Given the description of an element on the screen output the (x, y) to click on. 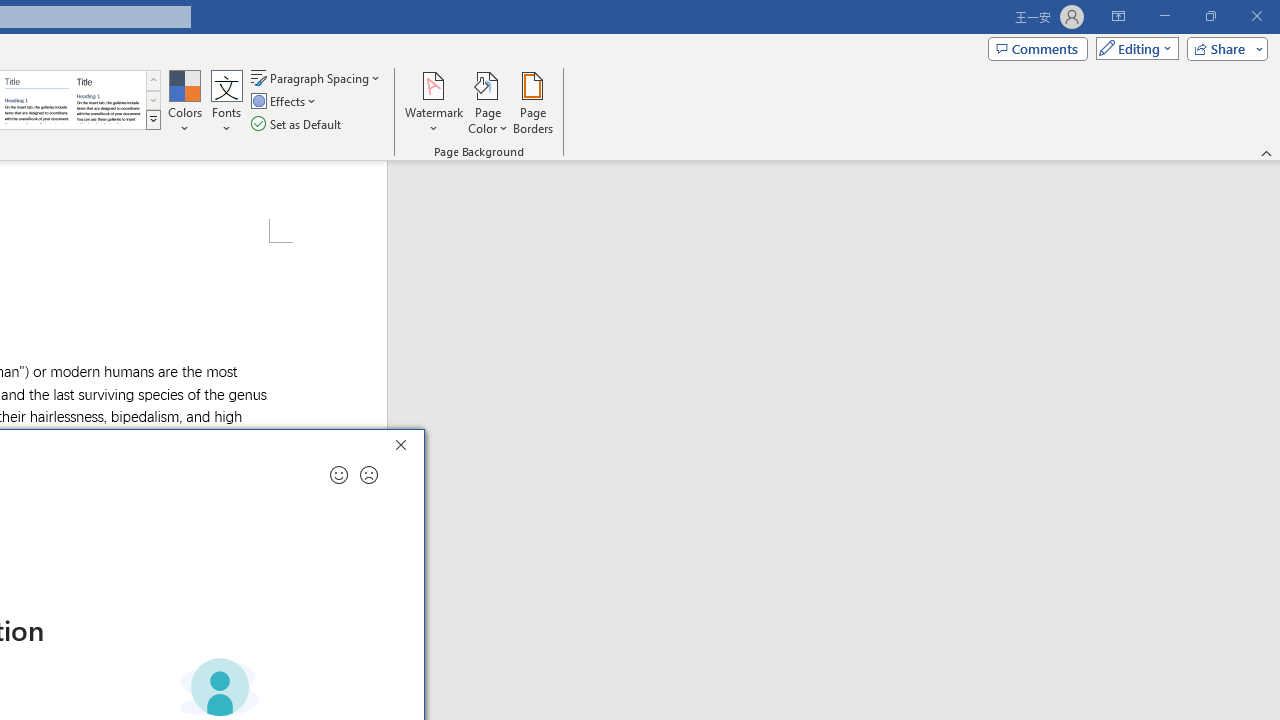
Send a frown for feedback (369, 475)
Paragraph Spacing (317, 78)
Effects (285, 101)
Set as Default (298, 124)
Send a smile for feedback (338, 475)
Style Set (153, 120)
